Given the description of an element on the screen output the (x, y) to click on. 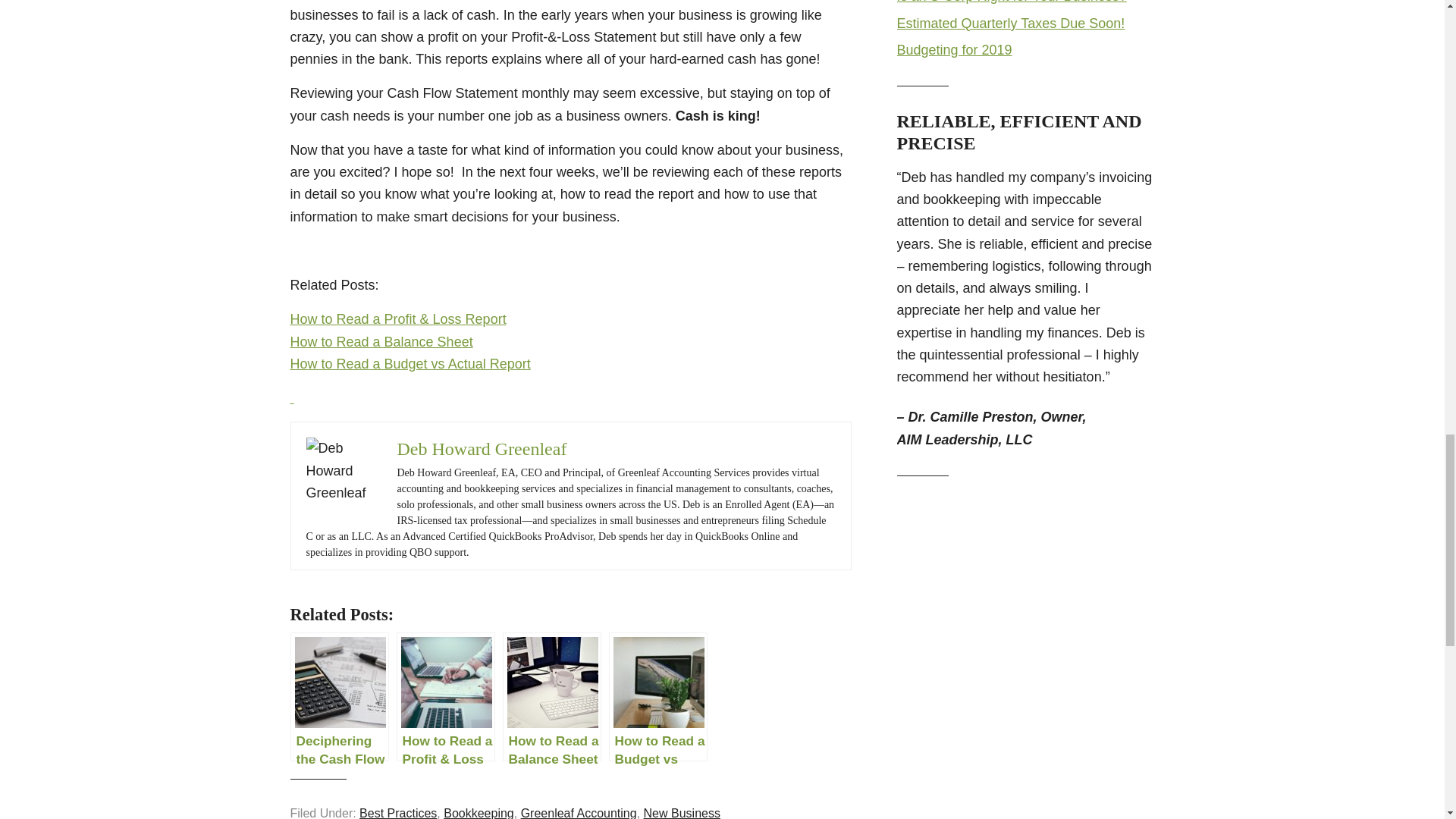
How to Read a Budget vs Actual Report (409, 363)
Deciphering the Cash Flow Statement (338, 696)
How to Read a Balance Sheet (380, 340)
How to Read a Balance Sheet (551, 696)
Best Practices (397, 812)
Greenleaf Accounting (579, 812)
Deb Howard Greenleaf (482, 448)
How to Read a Balance Sheet (551, 696)
New Business (681, 812)
Deciphering the Cash Flow Statement (338, 696)
How to Read a Budget vs Actual Report (657, 696)
Bookkeeping (478, 812)
How to Read a Budget vs Actual Report (657, 696)
